Given the description of an element on the screen output the (x, y) to click on. 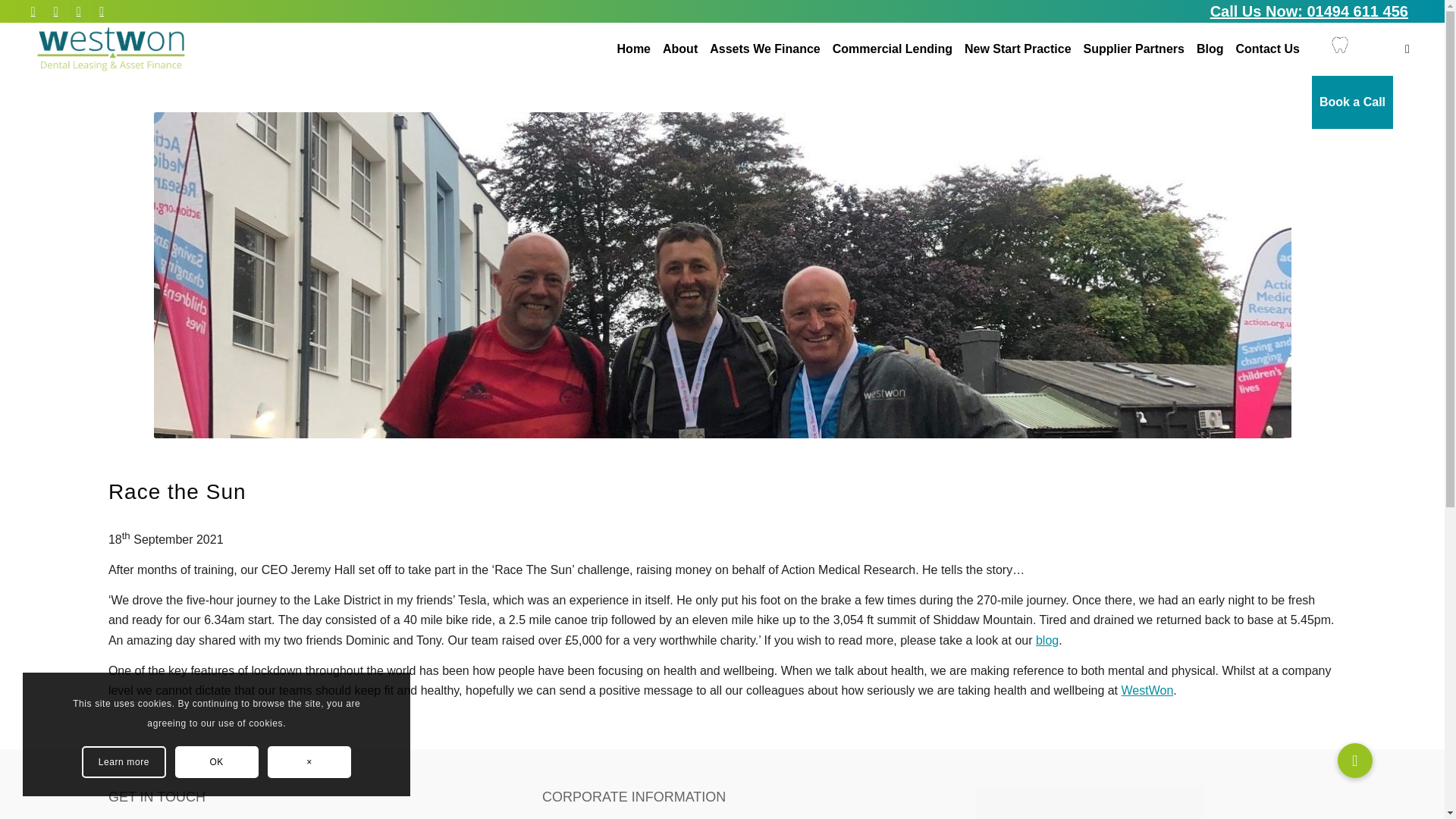
Book a Call (1352, 49)
New Start Practice (1017, 49)
Youtube (55, 11)
WestWon (1147, 689)
Call Us Now: 01494 611 456 (1308, 11)
Assets We Finance (765, 49)
blog (1046, 640)
Supplier Partners (1134, 49)
Contact Us (1266, 49)
Facebook (101, 11)
Twitter (32, 11)
Commercial Lending (892, 49)
LinkedIn (77, 11)
